Given the description of an element on the screen output the (x, y) to click on. 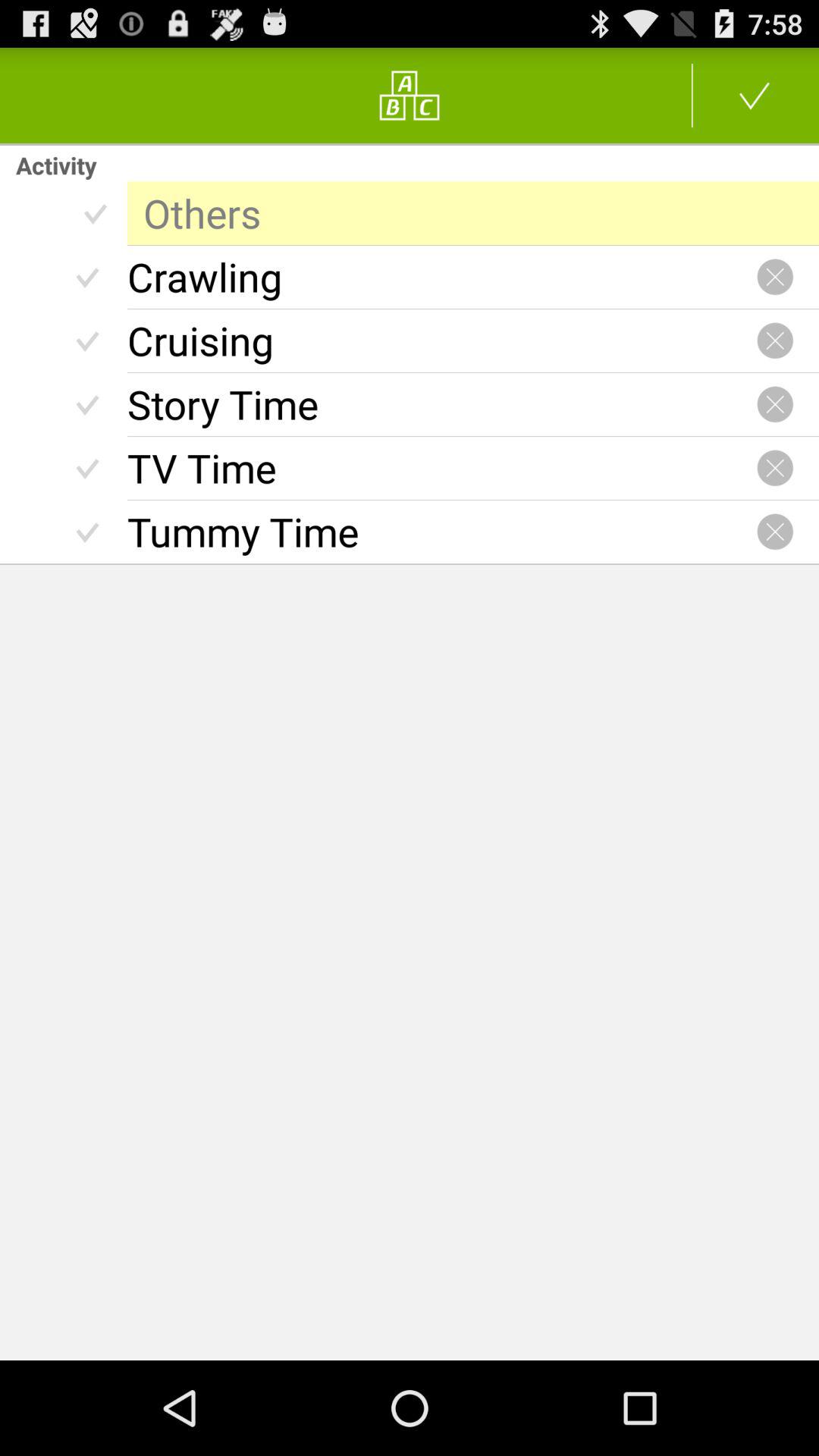
delete (775, 340)
